Given the description of an element on the screen output the (x, y) to click on. 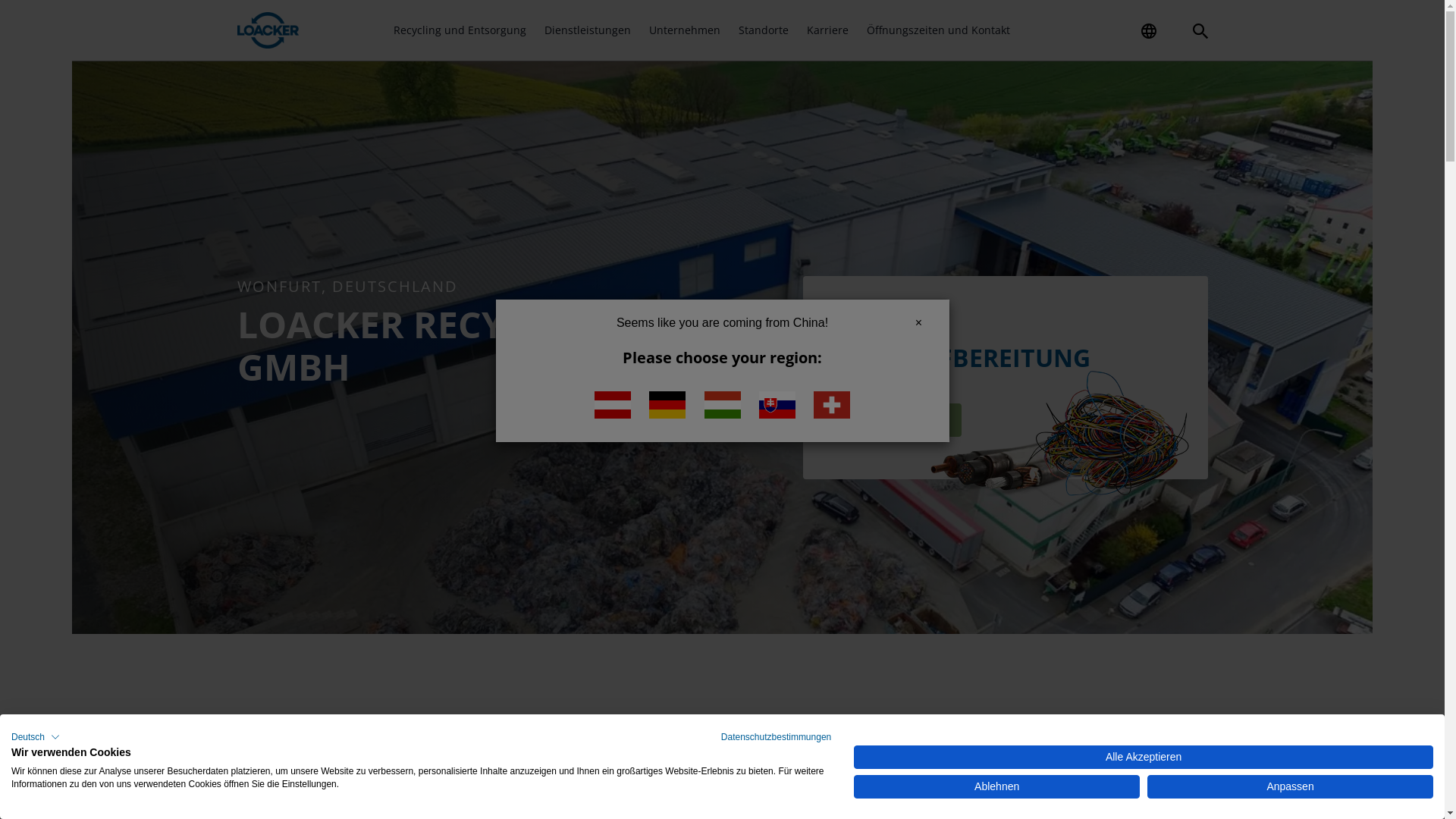
Alle Akzeptieren Element type: text (1143, 756)
zur Startseite Element type: hover (267, 30)
Standorte Element type: text (763, 30)
Unternehmen Element type: text (684, 30)
Anpassen Element type: text (1290, 786)
Zur Bestellung Element type: text (1038, 24)
Datenschutzbestimmungen Element type: text (776, 736)
Dienstleistungen Element type: text (587, 30)
Recycling und Entsorgung Element type: text (459, 30)
Mehr erfahren Element type: text (894, 420)
Karriere Element type: text (827, 30)
Ablehnen Element type: text (996, 786)
